Given the description of an element on the screen output the (x, y) to click on. 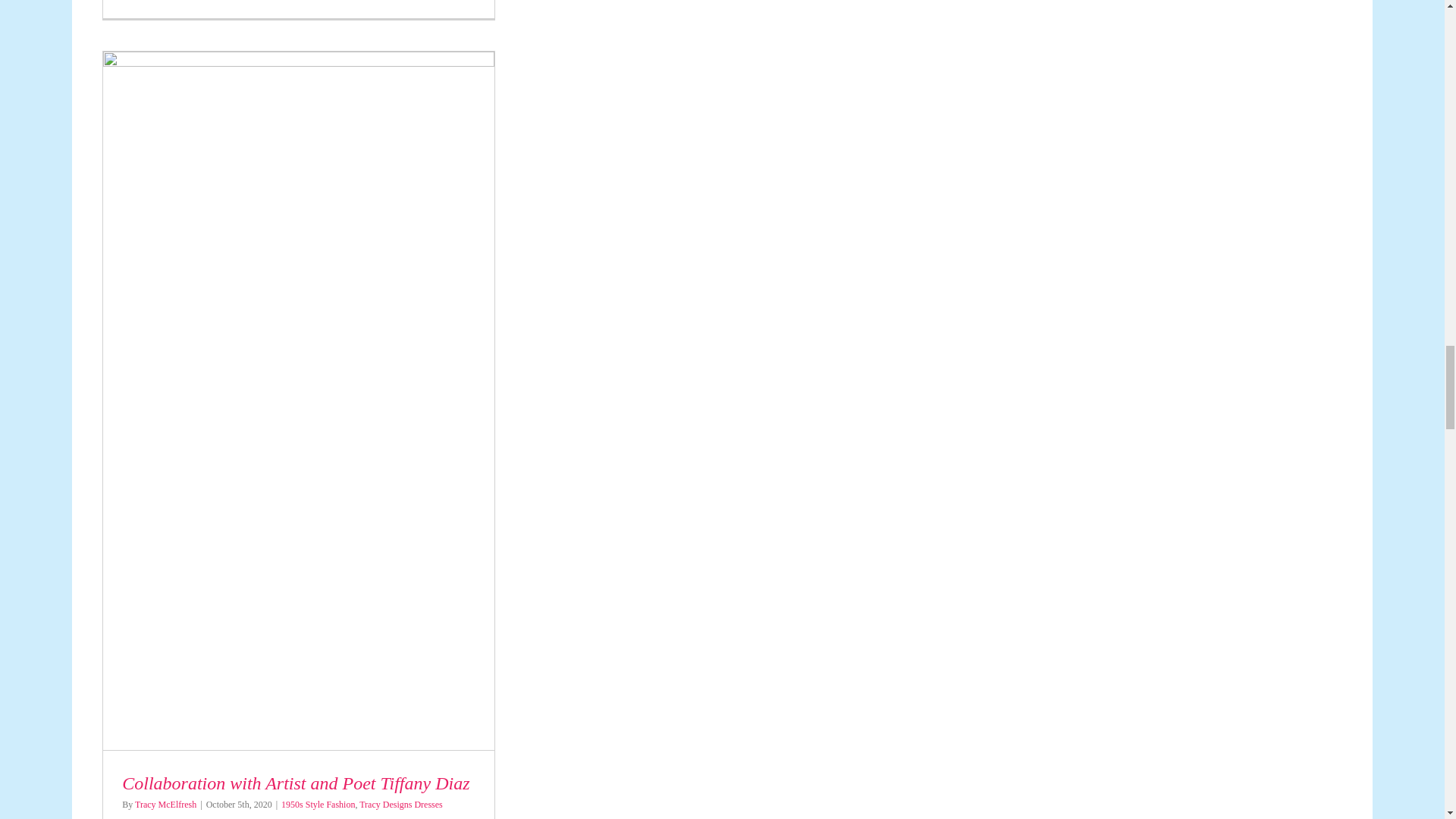
Posts by Tracy McElfresh (165, 804)
